Given the description of an element on the screen output the (x, y) to click on. 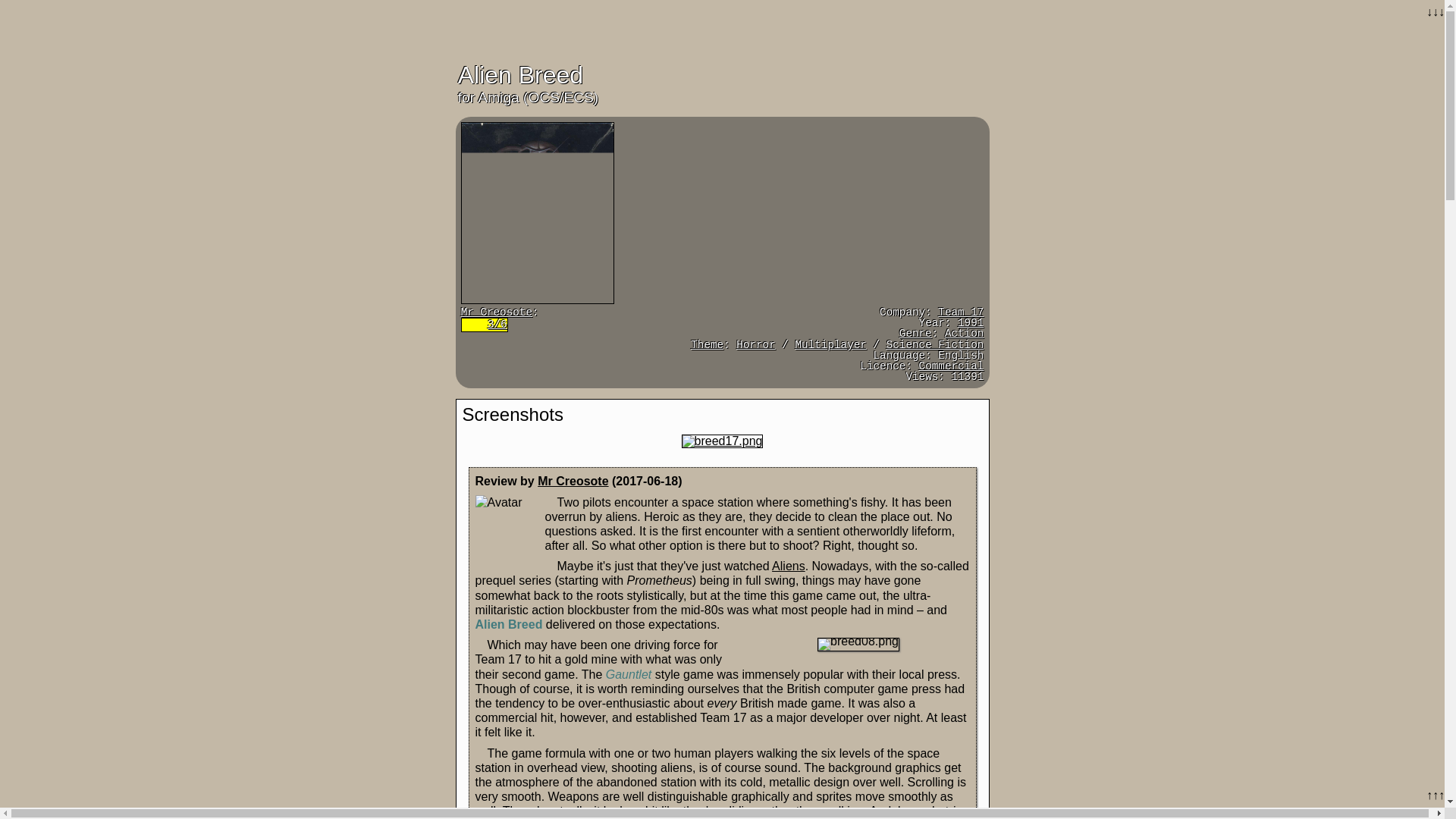
1991 (971, 322)
Science Fiction (935, 345)
Multiplayer (830, 345)
Mr Creosote (572, 481)
Amiga (497, 97)
? (706, 345)
? (915, 333)
Commercial (951, 366)
Theme (706, 345)
Aliens (788, 565)
